Given the description of an element on the screen output the (x, y) to click on. 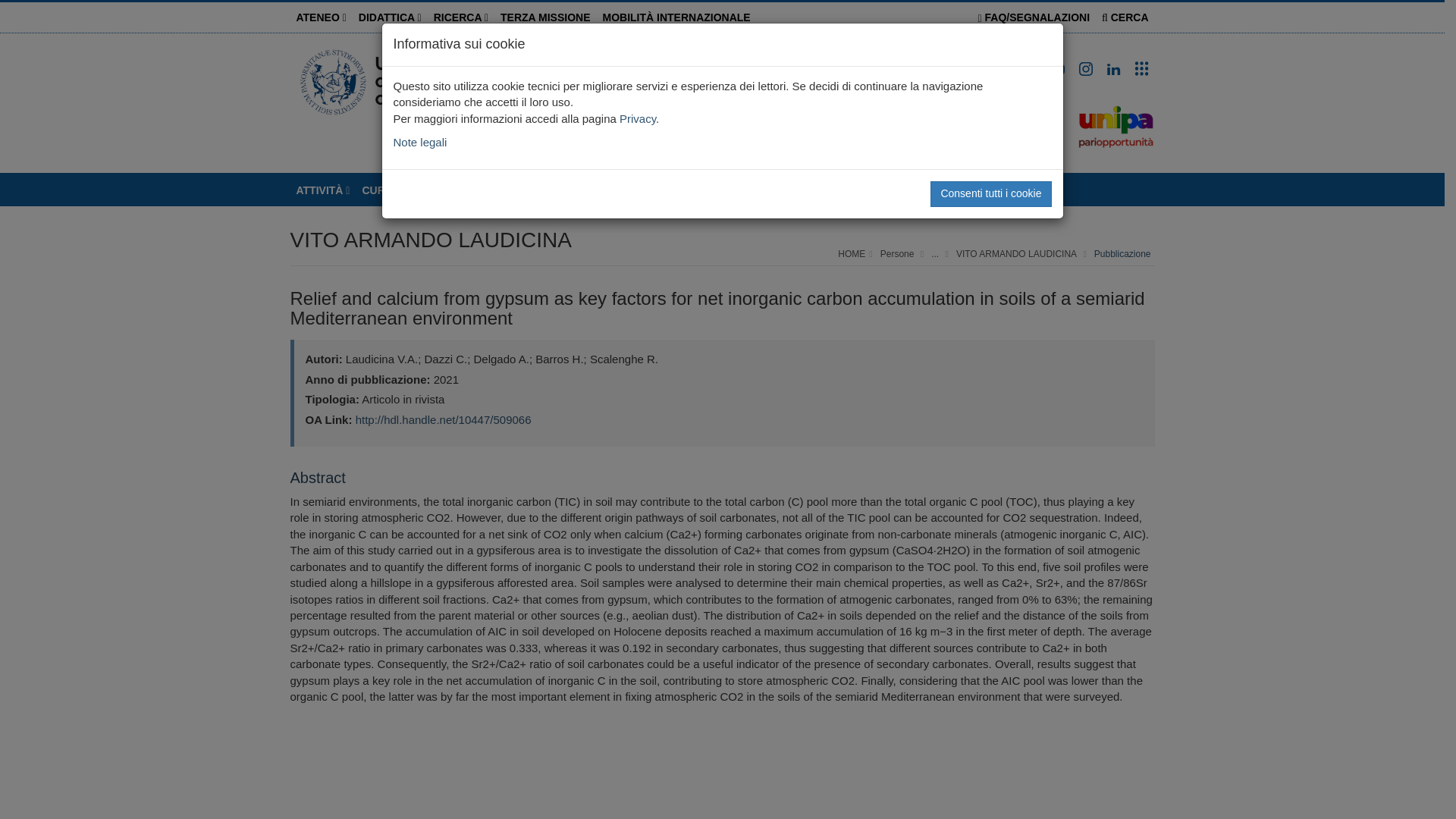
RICERCA  (461, 17)
Didattica (390, 17)
DIDATTICA  (390, 17)
ATENEO  (320, 17)
Ateneo (320, 17)
